Given the description of an element on the screen output the (x, y) to click on. 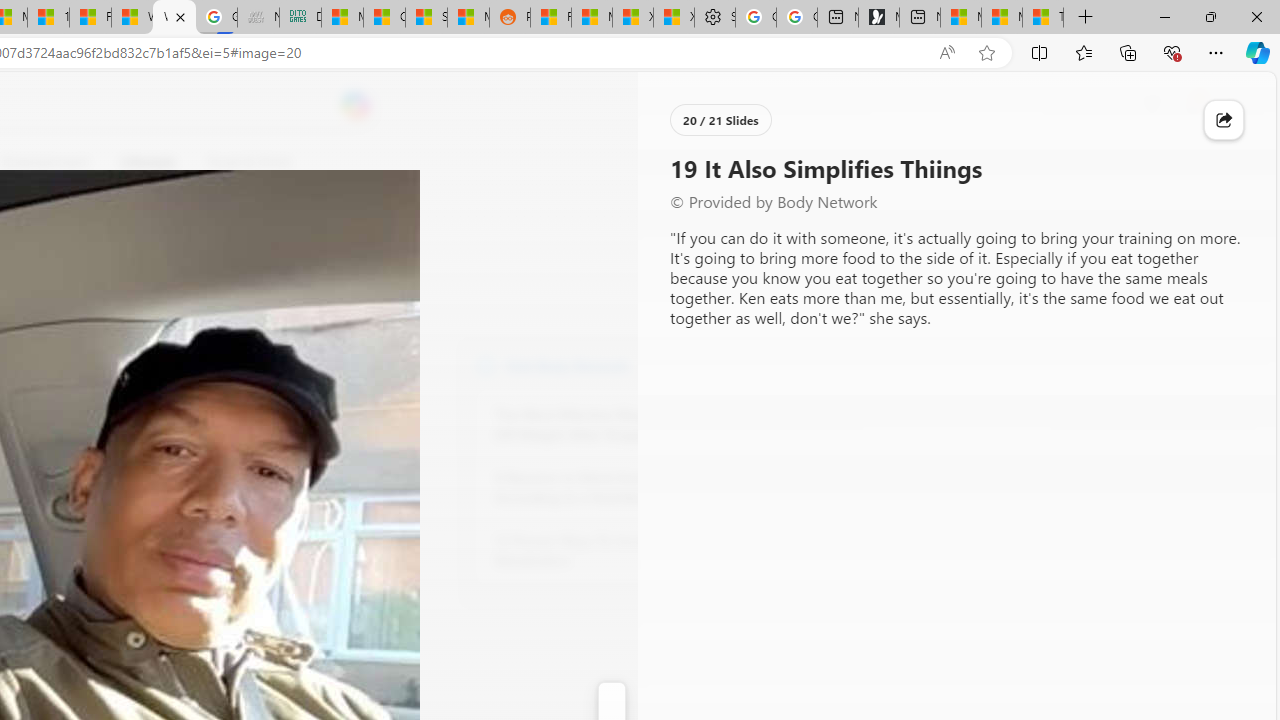
To get missing image descriptions, open the context menu. (671, 162)
Stocks - MSN (425, 17)
Open settings (1231, 105)
Body Network (486, 364)
Class: at-item immersive (1224, 120)
